Given the description of an element on the screen output the (x, y) to click on. 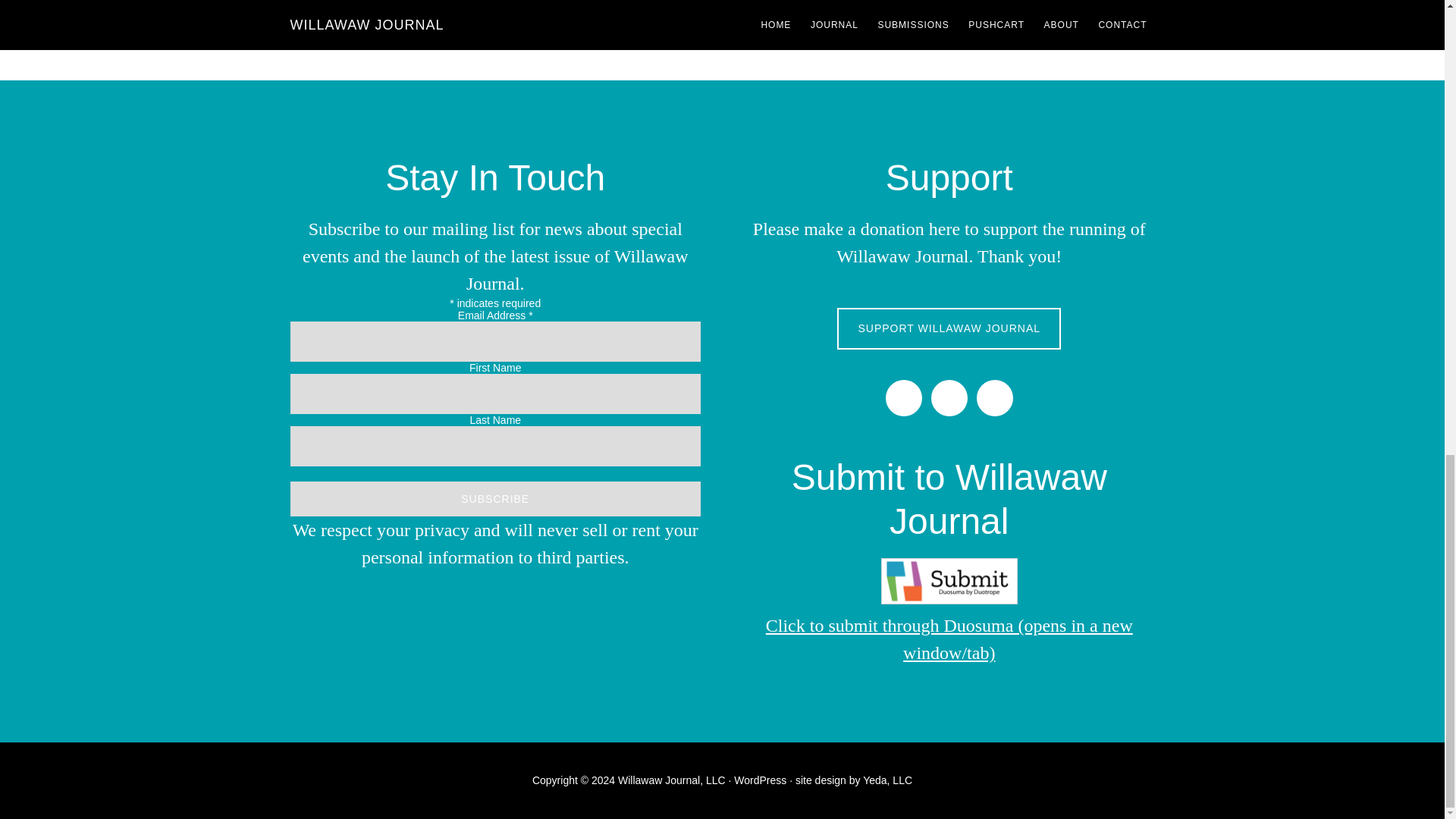
SUPPORT WILLAWAW JOURNAL (949, 328)
WordPress (759, 779)
Submit through Duosuma (948, 580)
Yeda, LLC (887, 779)
Subscribe (494, 498)
Subscribe (494, 498)
